Given the description of an element on the screen output the (x, y) to click on. 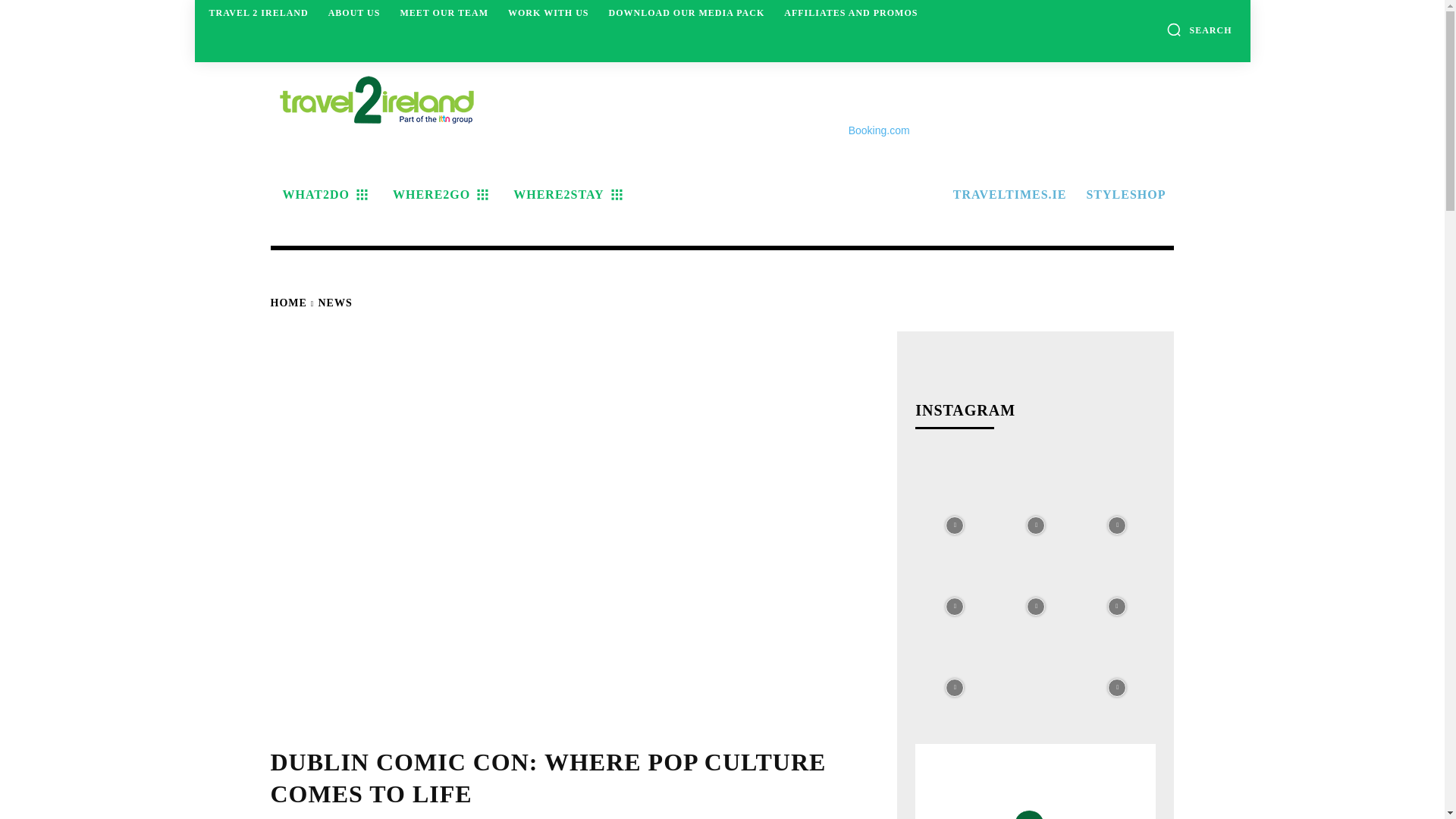
STYLESHOP (1123, 194)
AFFILIATES AND PROMOS (850, 12)
Booking.com (879, 130)
DOWNLOAD OUR MEDIA PACK (685, 12)
MEET OUR TEAM (443, 12)
WHAT2DO (322, 194)
TRAVELTIMES.IE (1007, 194)
WORK WITH US (547, 12)
TRAVEL 2 IRELAND (258, 12)
SEARCH (1198, 29)
